Given the description of an element on the screen output the (x, y) to click on. 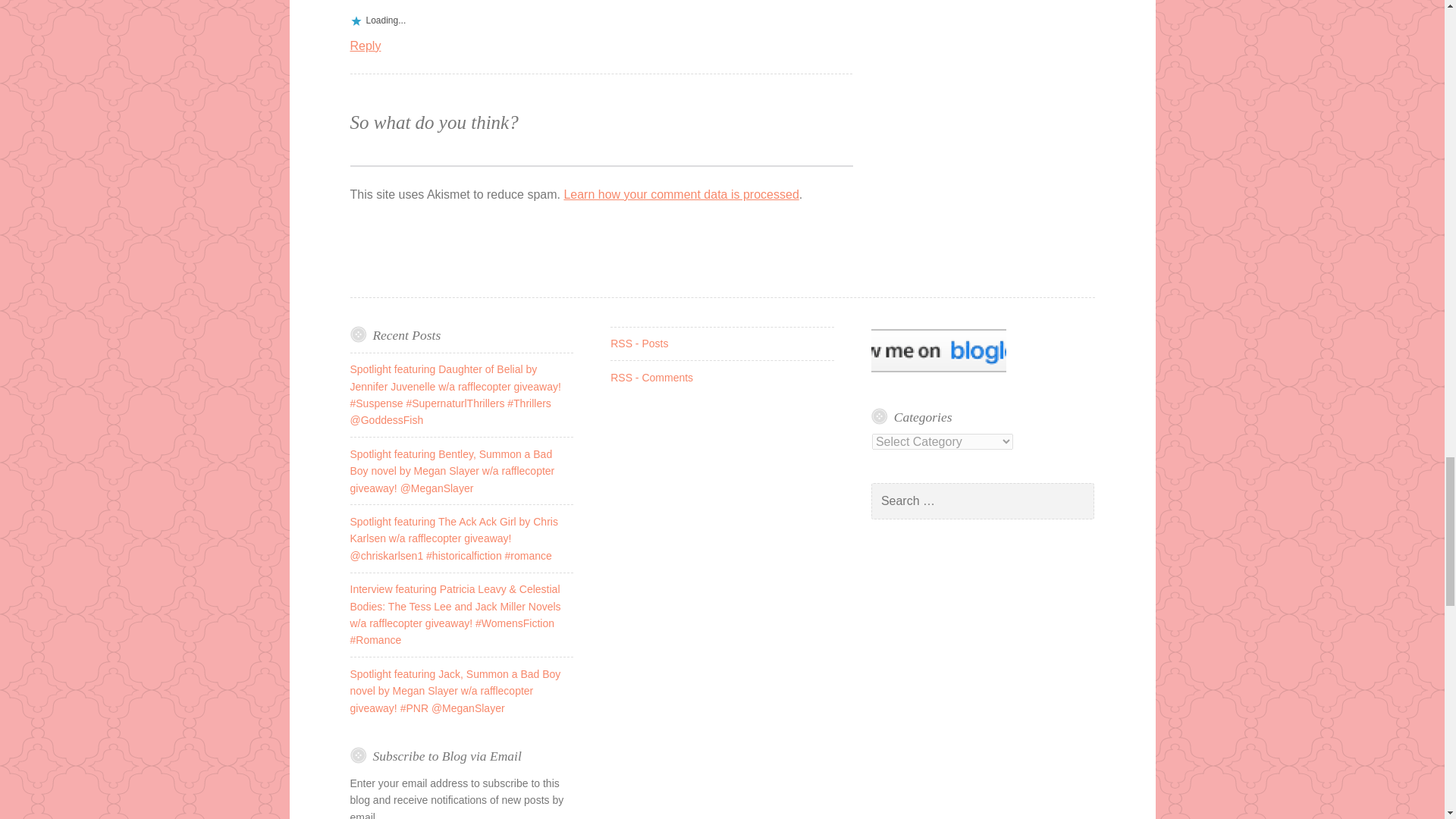
Reply (365, 45)
Subscribe to comments (651, 377)
Learn how your comment data is processed (680, 194)
Subscribe to posts (639, 343)
